Given the description of an element on the screen output the (x, y) to click on. 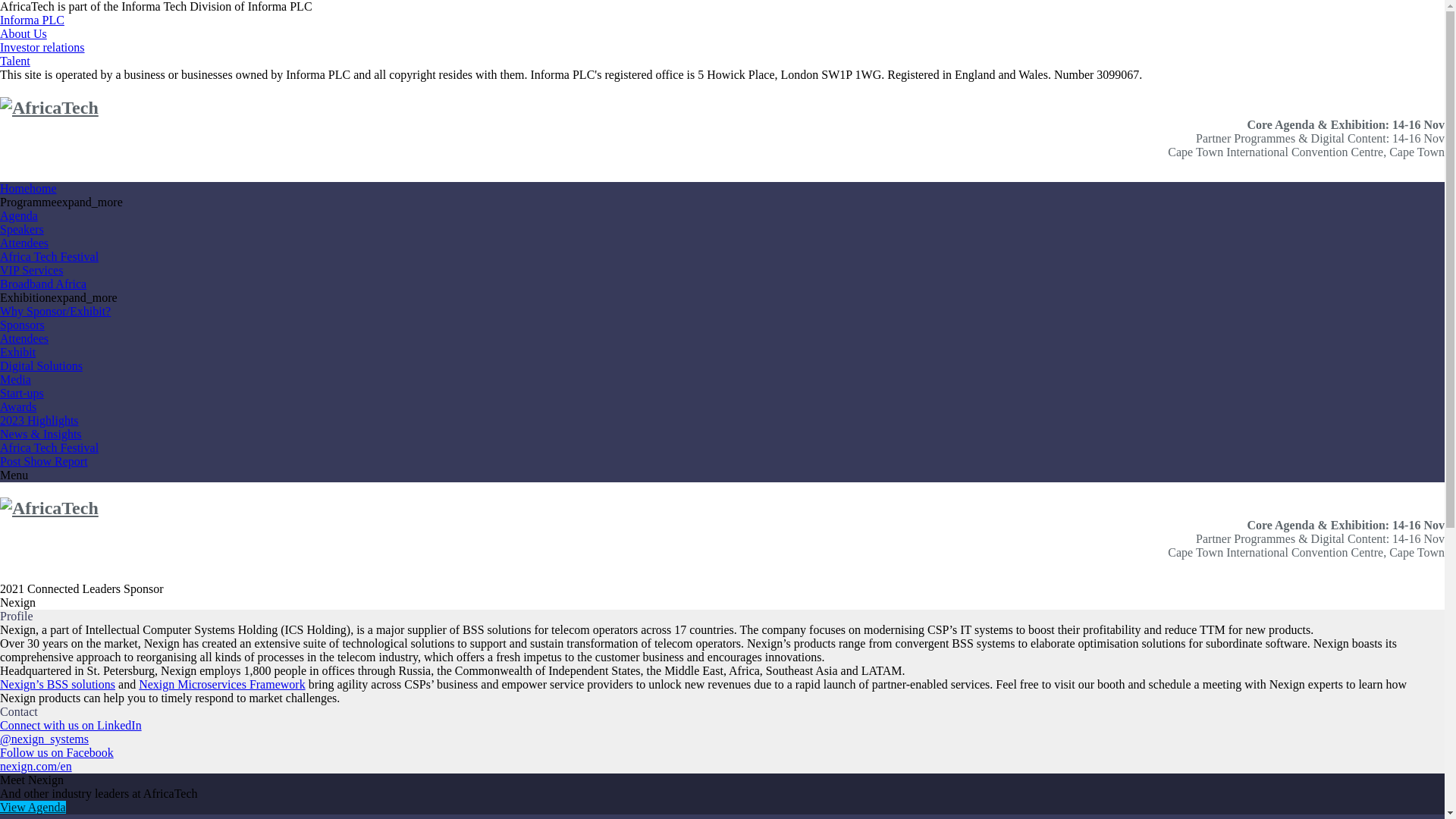
Africa Tech Festival (49, 447)
Broadband Africa (42, 283)
Attendees (24, 242)
Homehome (28, 187)
Talent (15, 60)
Exhibit (17, 351)
Post Show Report (43, 461)
Media (15, 379)
Informa PLC (32, 19)
Investor relations (42, 47)
